Given the description of an element on the screen output the (x, y) to click on. 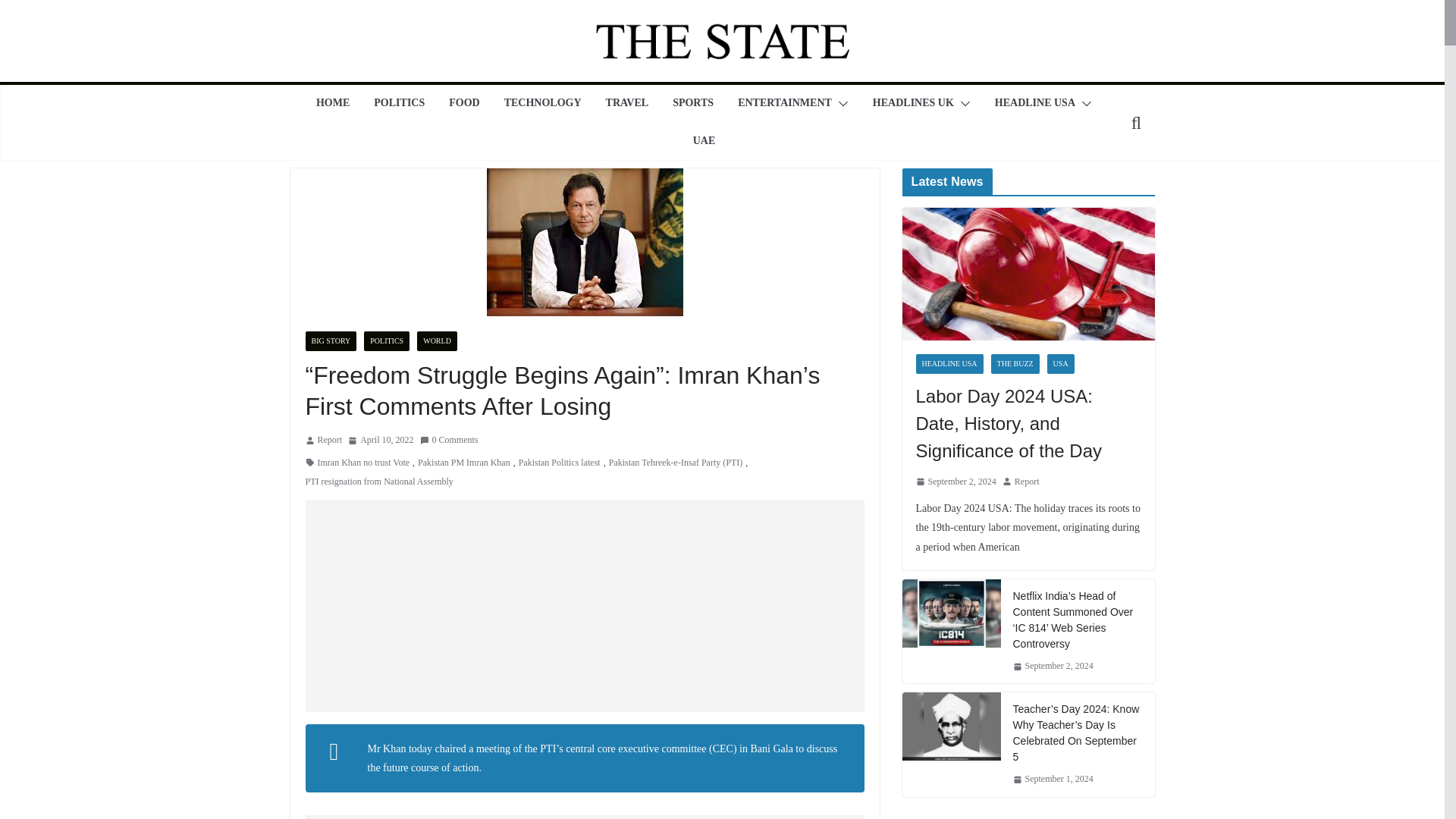
PTI resignation from National Assembly (378, 482)
HOME (332, 103)
HEADLINE USA (1034, 103)
TRAVEL (627, 103)
8:15 pm (380, 440)
Report (329, 440)
TECHNOLOGY (541, 103)
Advertisement (583, 605)
UAE (704, 141)
